Given the description of an element on the screen output the (x, y) to click on. 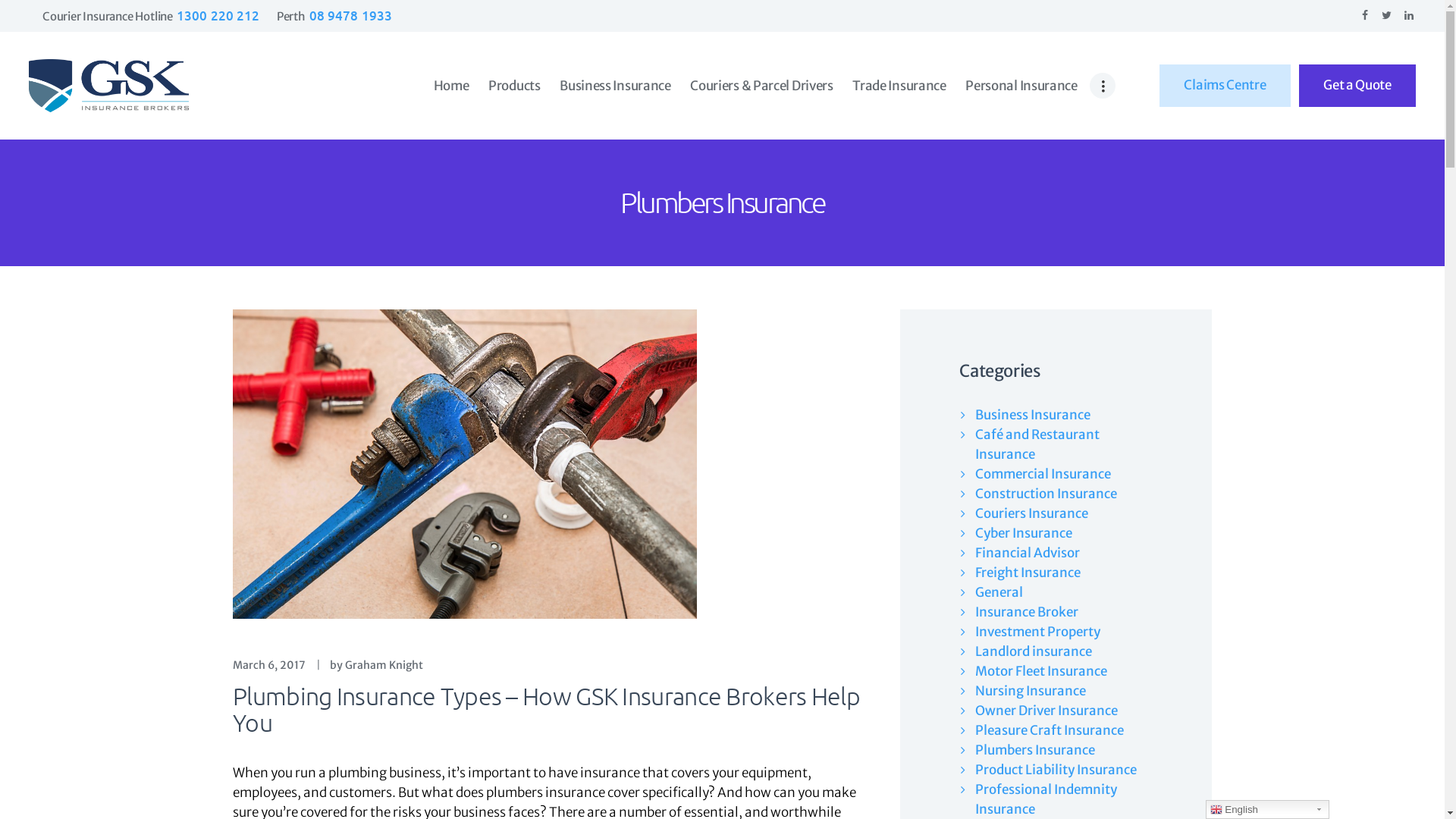
Products Element type: text (513, 85)
General Element type: text (998, 591)
Courier Insurance Hotline1300 220 212 Element type: text (150, 16)
Insurance Broker Element type: text (1026, 611)
Get a Quote Element type: text (1357, 85)
Claims Centre Element type: text (1224, 85)
Pleasure Craft Insurance Element type: text (1049, 729)
Landlord insurance Element type: text (1033, 651)
Couriers Insurance Element type: text (1031, 513)
Cyber Insurance Element type: text (1023, 532)
Plumbers Insurance Element type: text (1035, 749)
Freight Insurance Element type: text (1027, 572)
March 6, 2017 Element type: text (268, 664)
Nursing Insurance Element type: text (1030, 690)
Professional Indemnity Insurance Element type: text (1046, 799)
Product Liability Insurance Element type: text (1055, 769)
Perth08 9478 1933 Element type: text (334, 16)
Couriers & Parcel Drivers Element type: text (761, 85)
Commercial Insurance Element type: text (1042, 473)
by Graham Knight Element type: text (382, 664)
Investment Property Element type: text (1037, 631)
Business Insurance Element type: text (1032, 414)
Financial Advisor Element type: text (1027, 552)
Owner Driver Insurance Element type: text (1046, 710)
Home Element type: text (450, 85)
Business Insurance Element type: text (614, 85)
Personal Insurance Element type: text (1020, 85)
Trade Insurance Element type: text (898, 85)
Motor Fleet Insurance Element type: text (1041, 670)
Construction Insurance Element type: text (1046, 493)
